Given the description of an element on the screen output the (x, y) to click on. 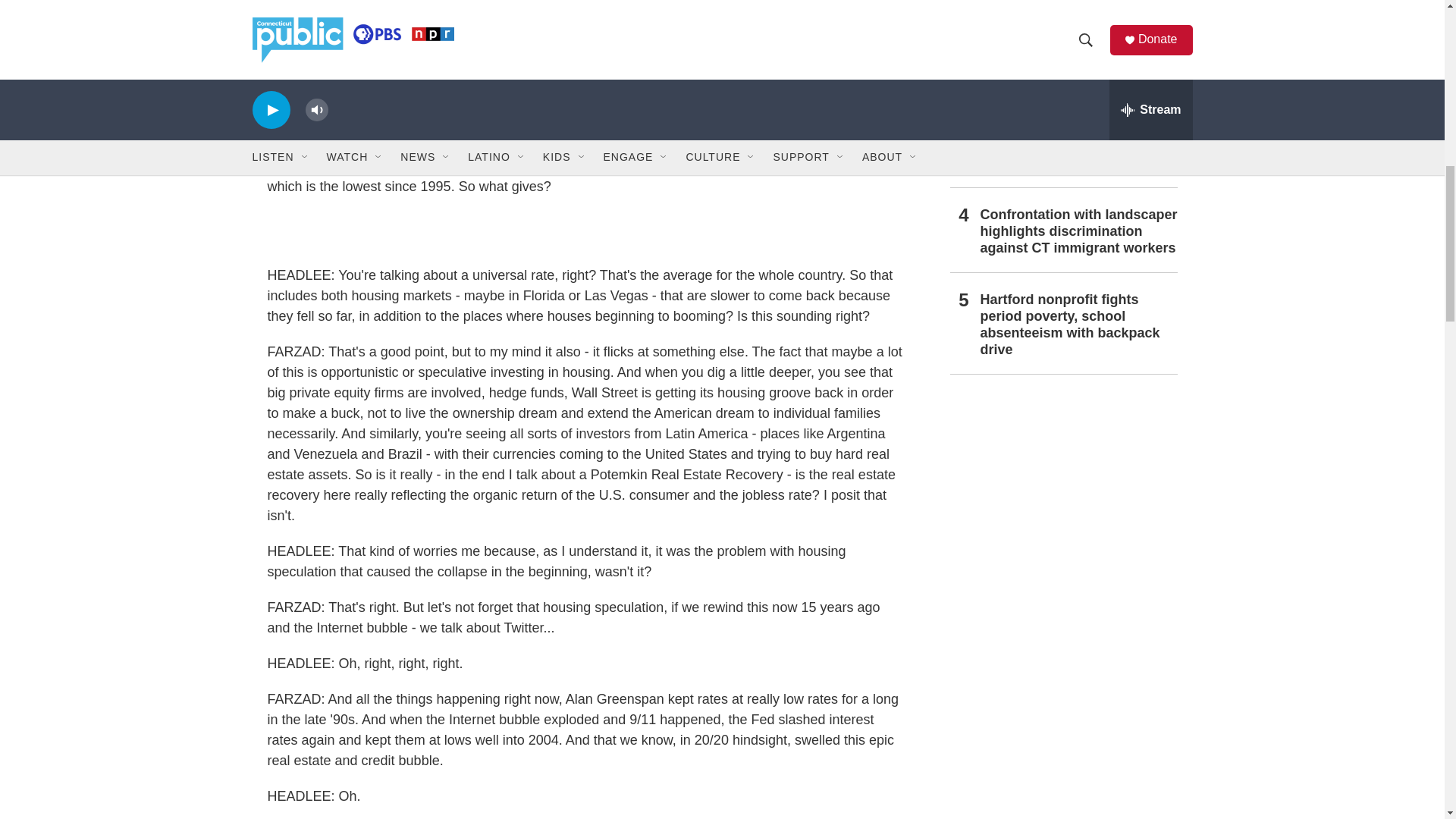
3rd party ad content (1062, 499)
3rd party ad content (585, 231)
3rd party ad content (1062, 719)
